Given the description of an element on the screen output the (x, y) to click on. 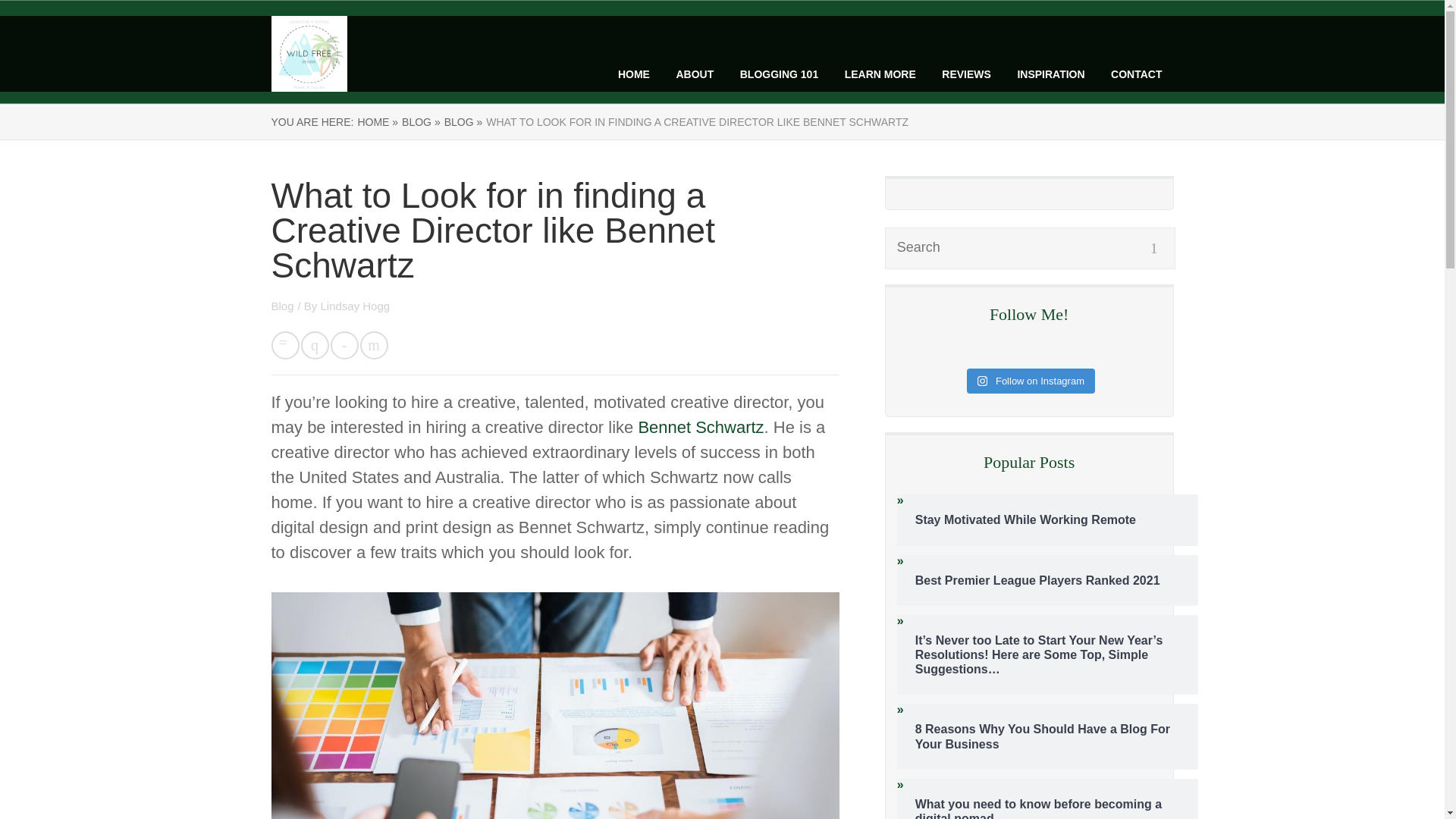
8 Reasons Why You Should Have a Blog For Your Business (1047, 736)
LEARN MORE (879, 73)
CONTACT (1135, 73)
Stay Motivated While Working Remote (1047, 519)
Follow on Instagram (1030, 380)
Blog (282, 305)
Best Premier League Players Ranked 2021 (1047, 580)
Bennet Schwartz (699, 426)
HOME (633, 73)
REVIEWS (966, 73)
INSPIRATION (1050, 73)
ABOUT (694, 73)
Lindsay Hogg (355, 305)
BLOGGING 101 (778, 73)
What you need to know before becoming a digital nomad (1047, 807)
